Given the description of an element on the screen output the (x, y) to click on. 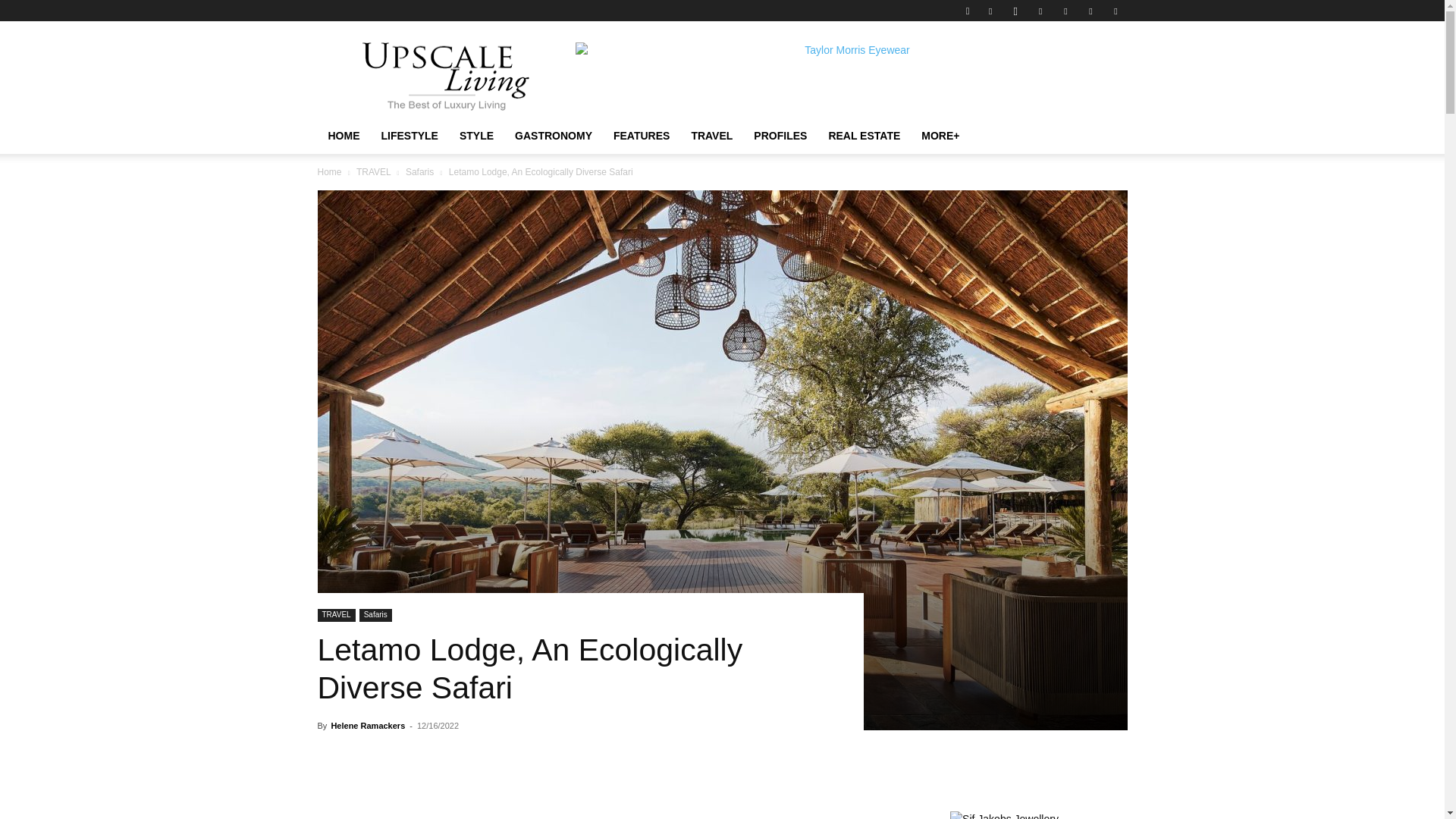
WordPress (1114, 10)
Twitter (1090, 10)
View all posts in Safaris (419, 172)
View all posts in TRAVEL (373, 172)
Facebook (989, 10)
Linkedin (1040, 10)
GASTRONOMY (552, 135)
Pinterest (1065, 10)
Instagram (1015, 10)
Search (1085, 64)
